Given the description of an element on the screen output the (x, y) to click on. 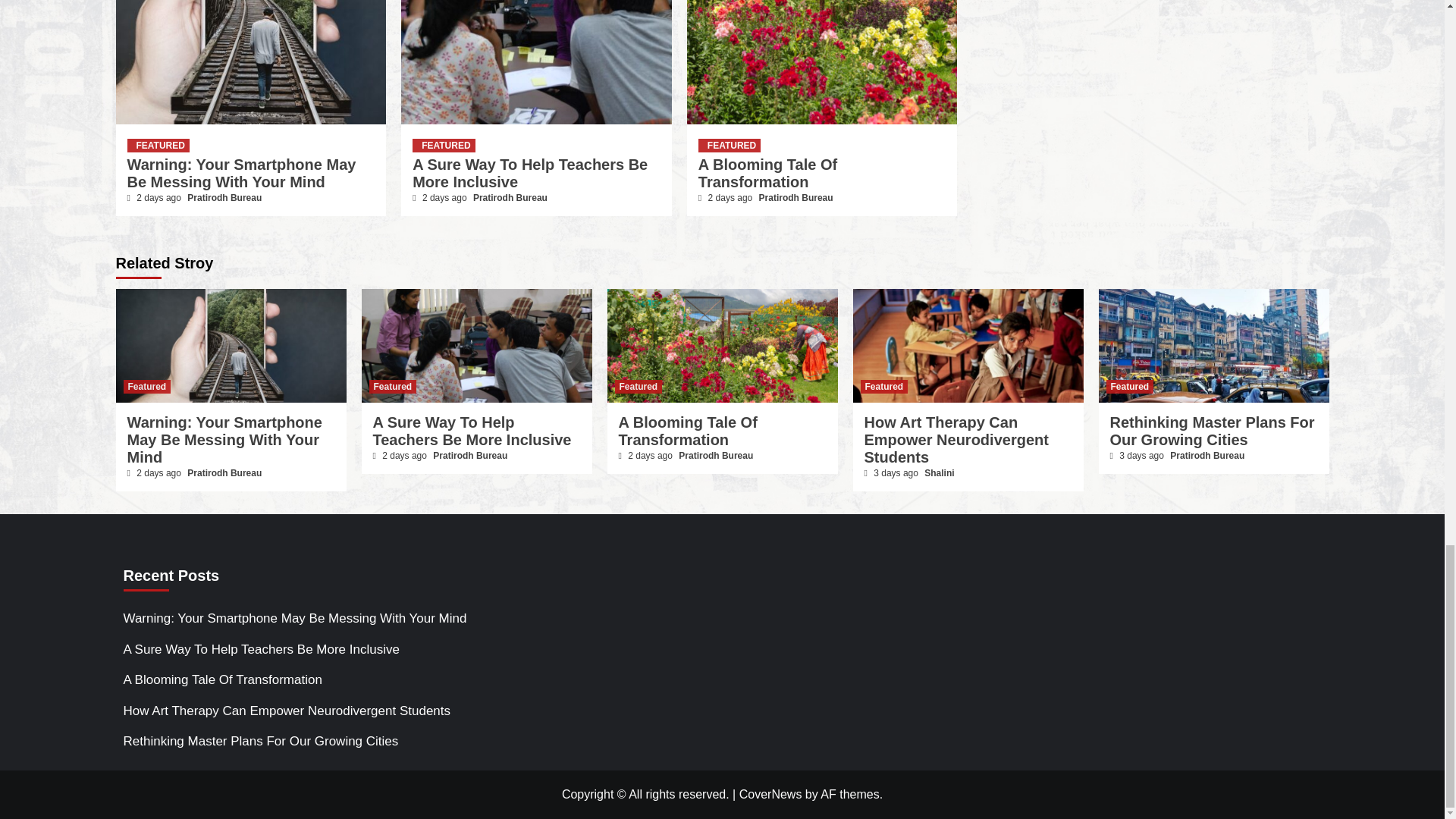
FEATURED (443, 145)
Pratirodh Bureau (224, 197)
A Sure Way To Help Teachers Be More Inclusive (529, 173)
FEATURED (158, 145)
Pratirodh Bureau (510, 197)
Warning: Your Smartphone May Be Messing With Your Mind (242, 173)
